Given the description of an element on the screen output the (x, y) to click on. 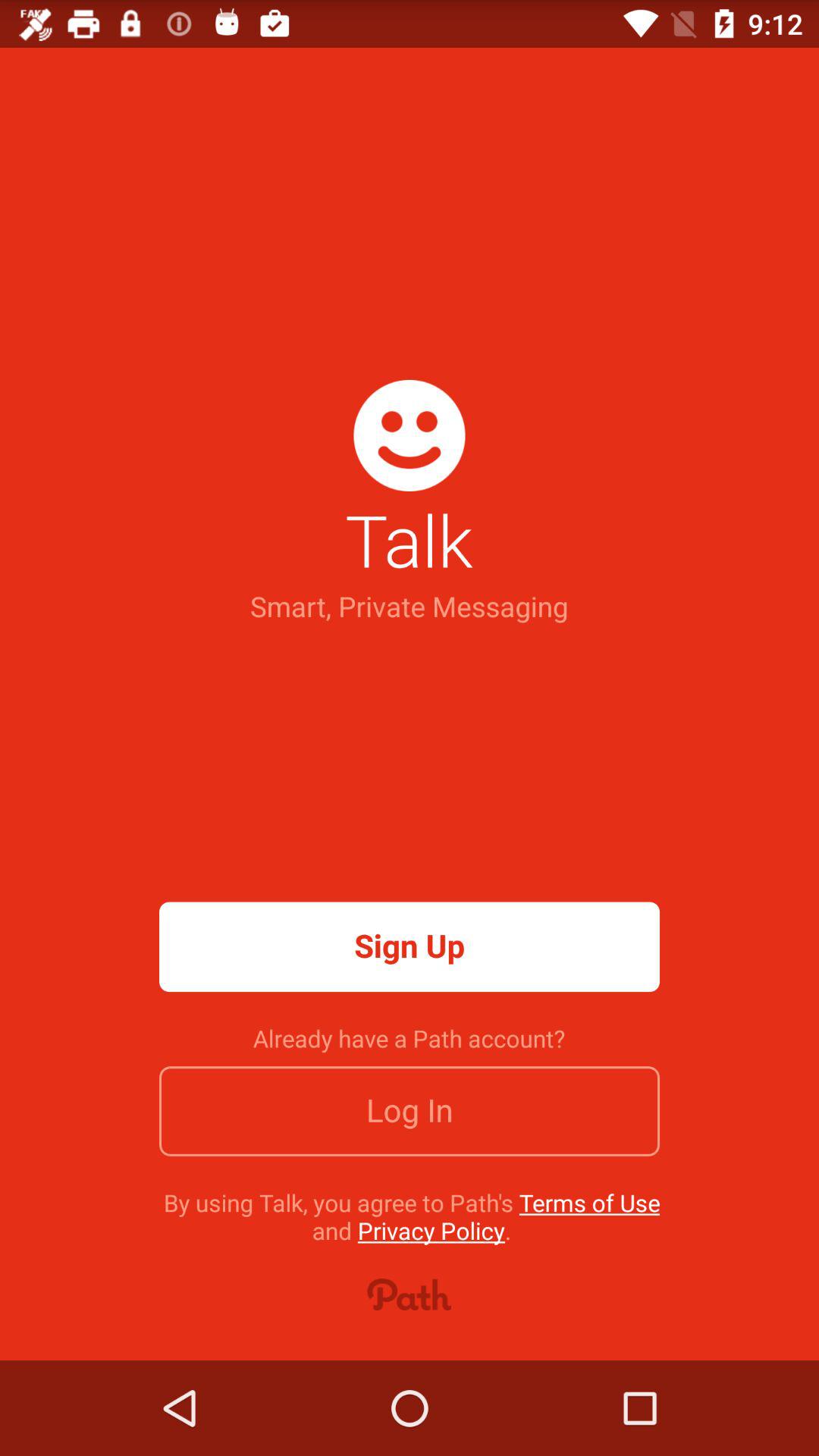
turn off the by using talk app (411, 1216)
